Given the description of an element on the screen output the (x, y) to click on. 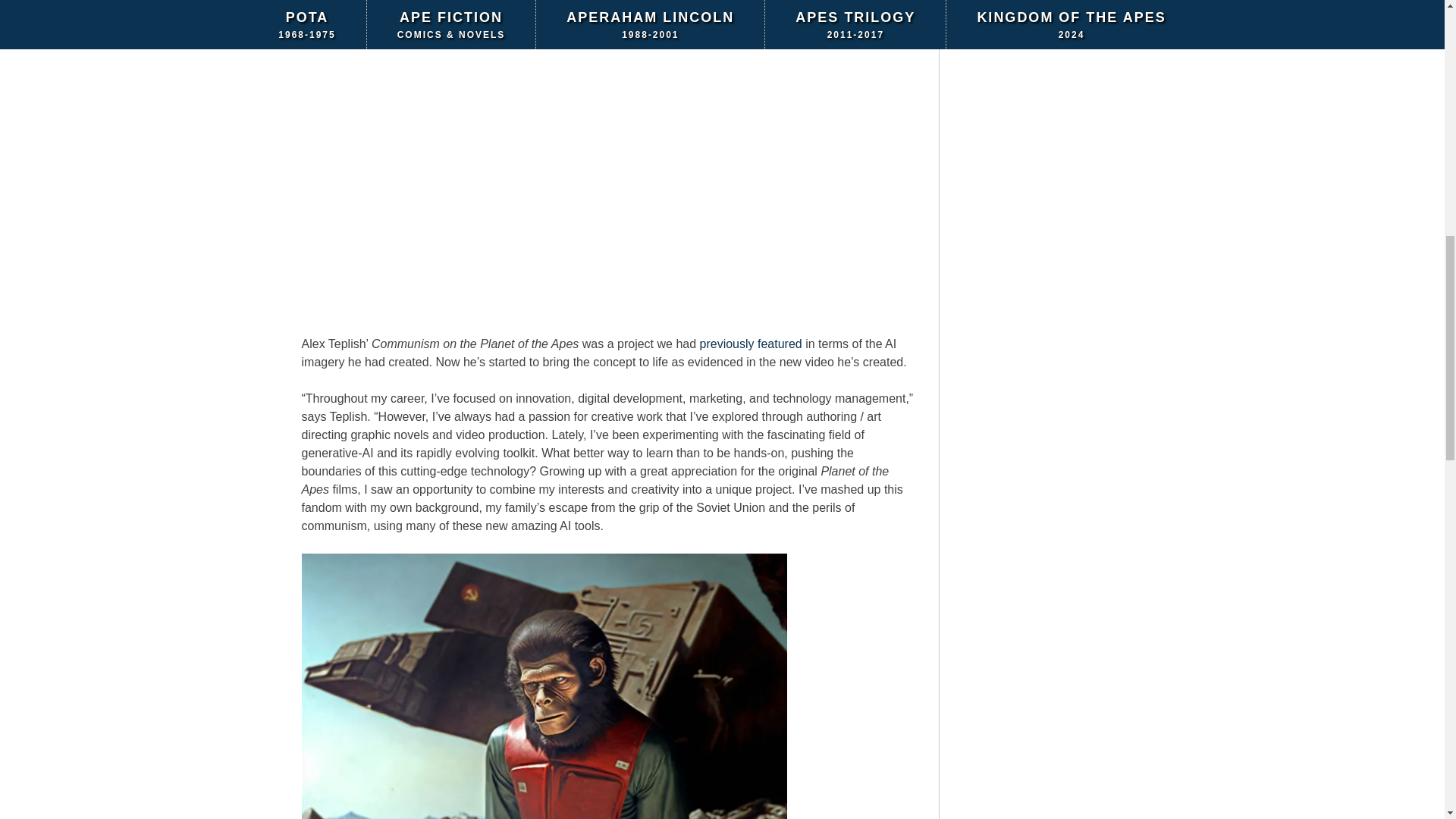
previously featured (751, 343)
